Given the description of an element on the screen output the (x, y) to click on. 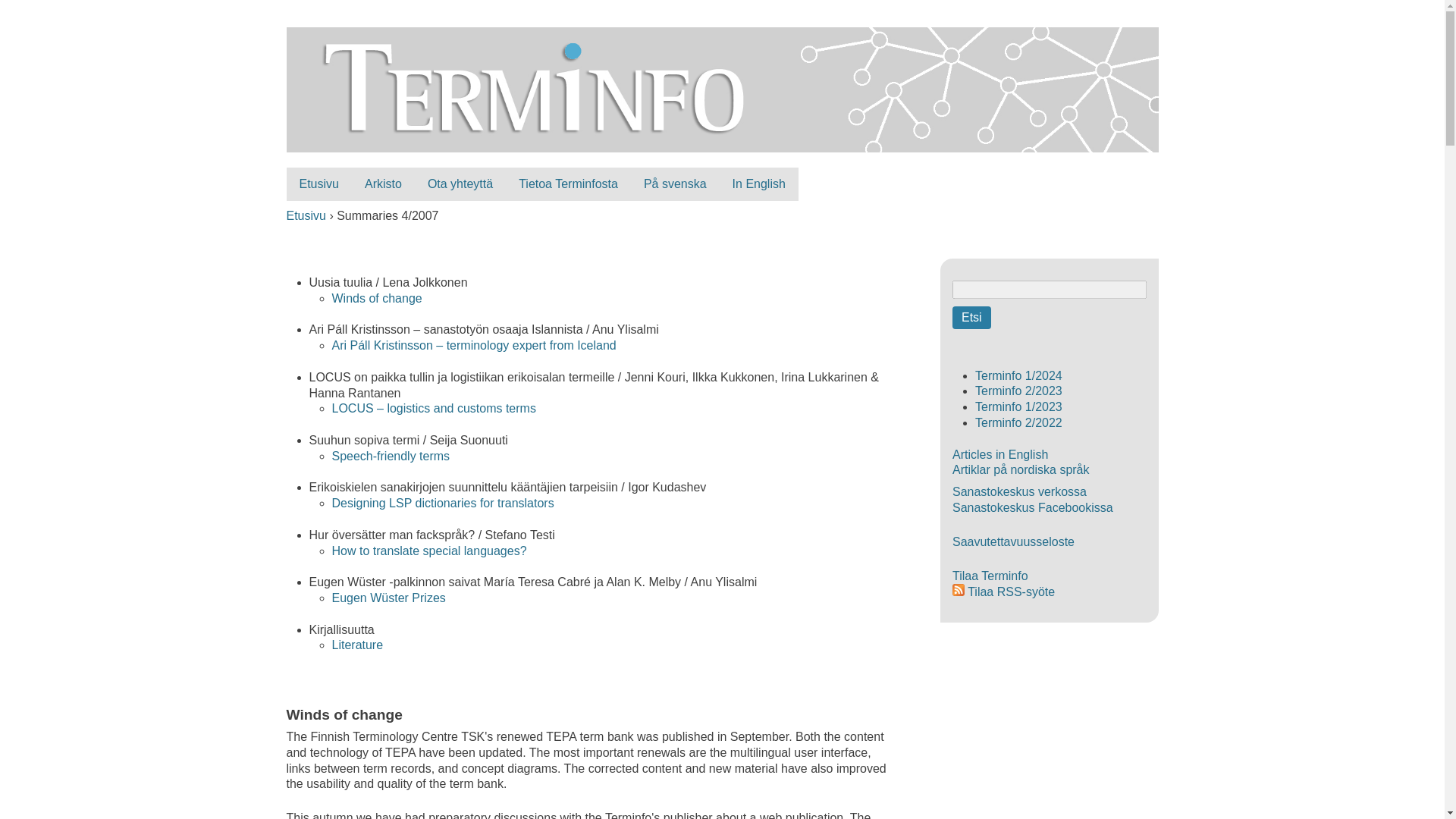
Tilaa Terminfo (989, 575)
Etusivu (319, 184)
Etsi (971, 317)
Articles in English (1000, 454)
Etusivu (722, 143)
Etsi (971, 317)
In English (758, 184)
Winds of change (376, 297)
Arkisto (383, 184)
Literature (357, 644)
